Given the description of an element on the screen output the (x, y) to click on. 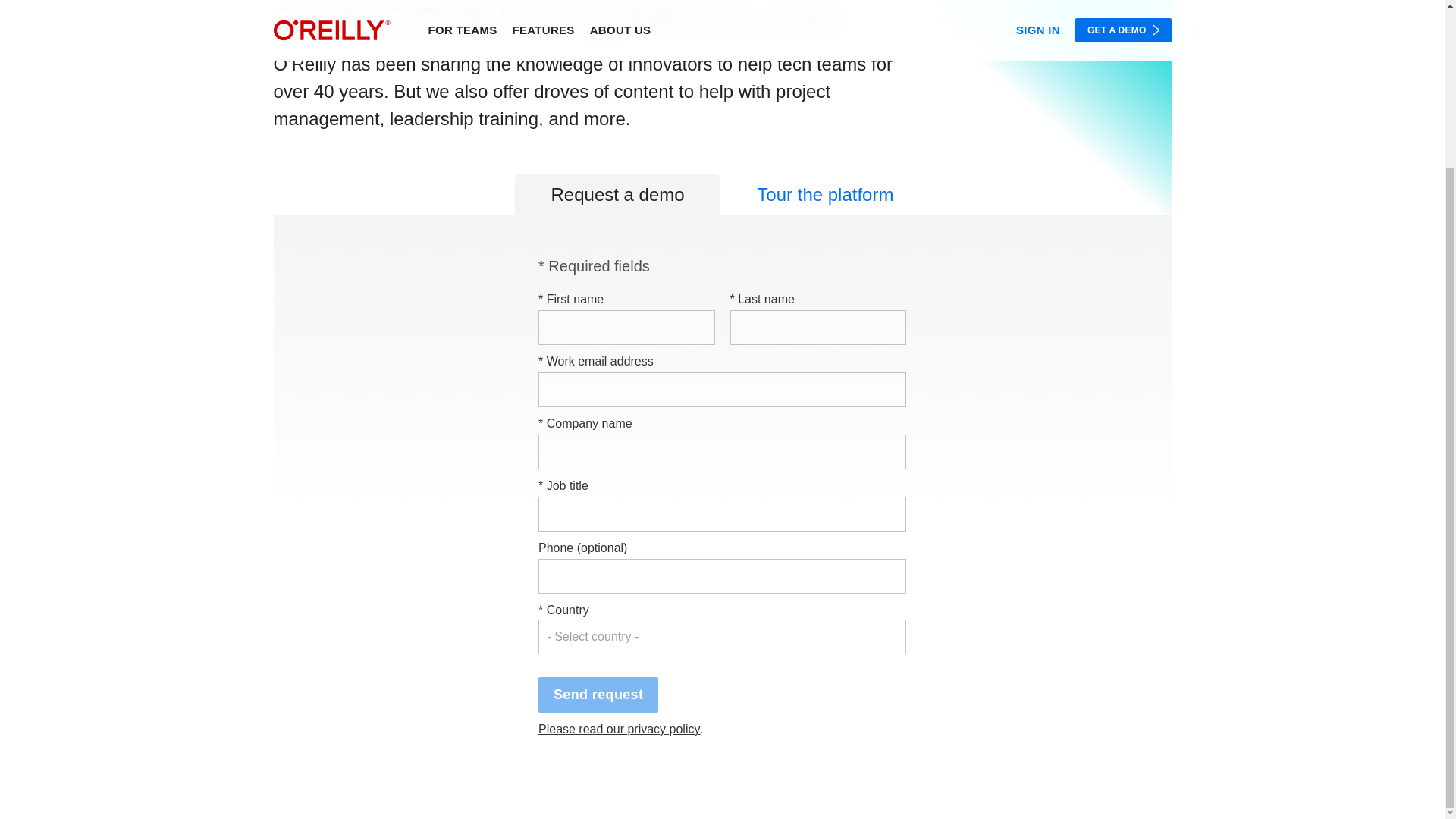
Request a demo (617, 193)
Tour the platform (825, 193)
Send request (598, 694)
Please read our privacy policy (619, 728)
